Given the description of an element on the screen output the (x, y) to click on. 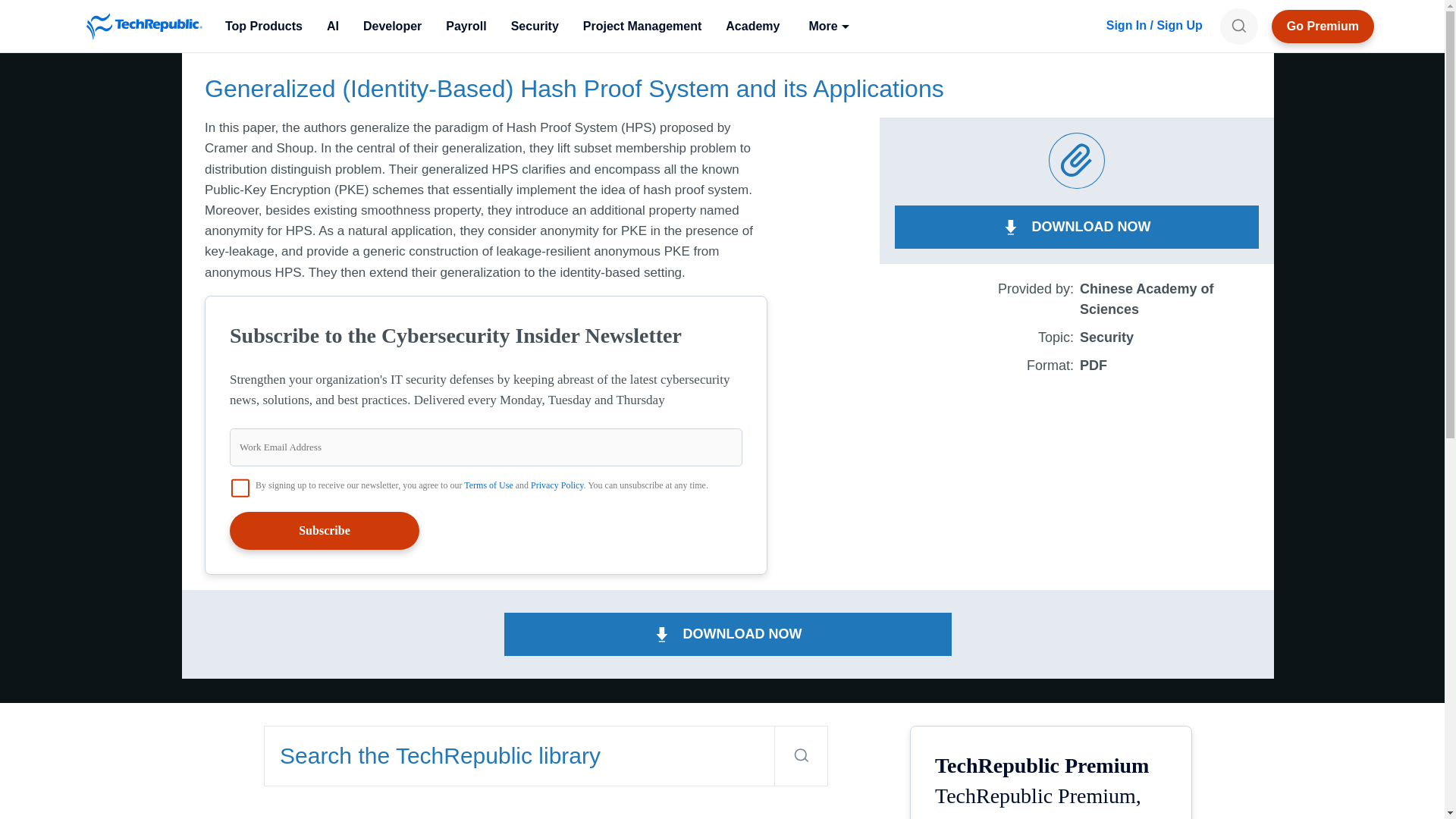
TechRepublic (143, 25)
TechRepublic (143, 25)
Go Premium (1322, 25)
Terms of Use (488, 484)
DOWNLOAD NOW (1077, 226)
Security (534, 26)
Developer (392, 26)
TechRepublic Premium (1322, 25)
Project Management (641, 26)
Academy (752, 26)
